Given the description of an element on the screen output the (x, y) to click on. 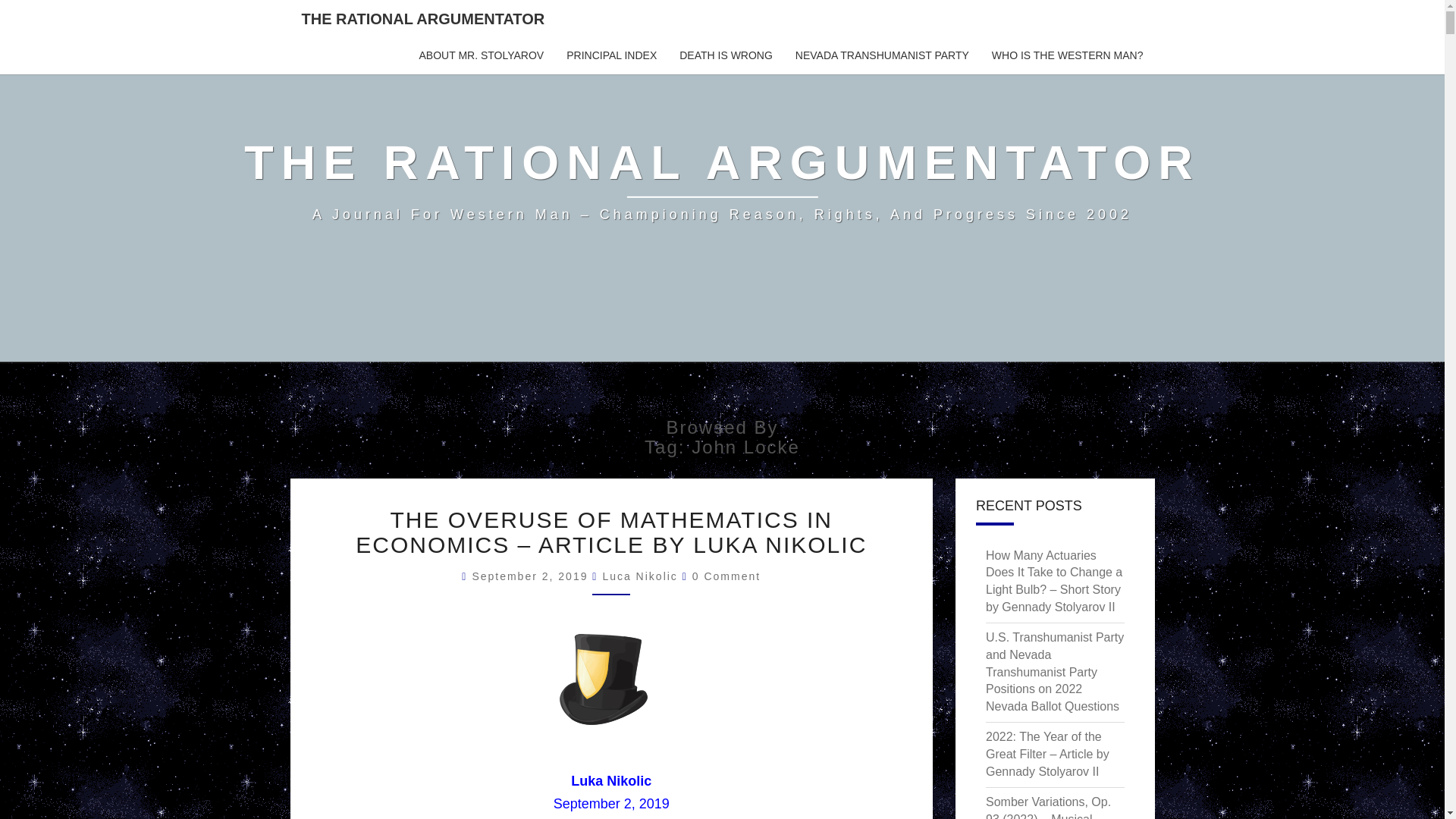
PRINCIPAL INDEX (611, 55)
September 2, 2019 (531, 576)
THE RATIONAL ARGUMENTATOR (422, 18)
Luca Nikolic (639, 576)
The Rational Argumentator (721, 180)
View all posts by Luca Nikolic (639, 576)
ABOUT MR. STOLYAROV (481, 55)
WHO IS THE WESTERN MAN? (1066, 55)
DEATH IS WRONG (726, 55)
0 Comment (726, 576)
NEVADA TRANSHUMANIST PARTY (881, 55)
4:09 PM (531, 576)
